Given the description of an element on the screen output the (x, y) to click on. 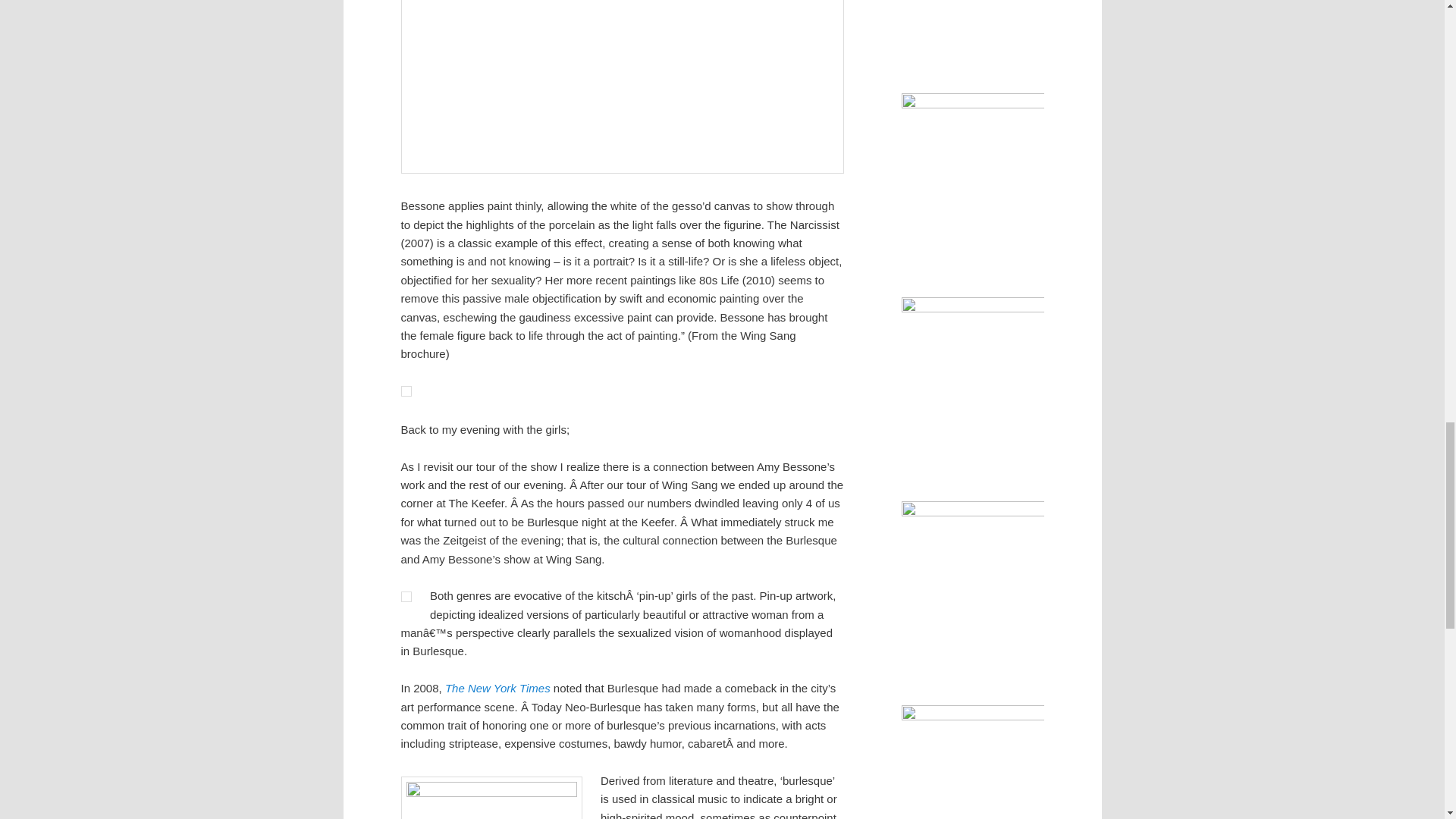
The New York Times (497, 687)
